Given the description of an element on the screen output the (x, y) to click on. 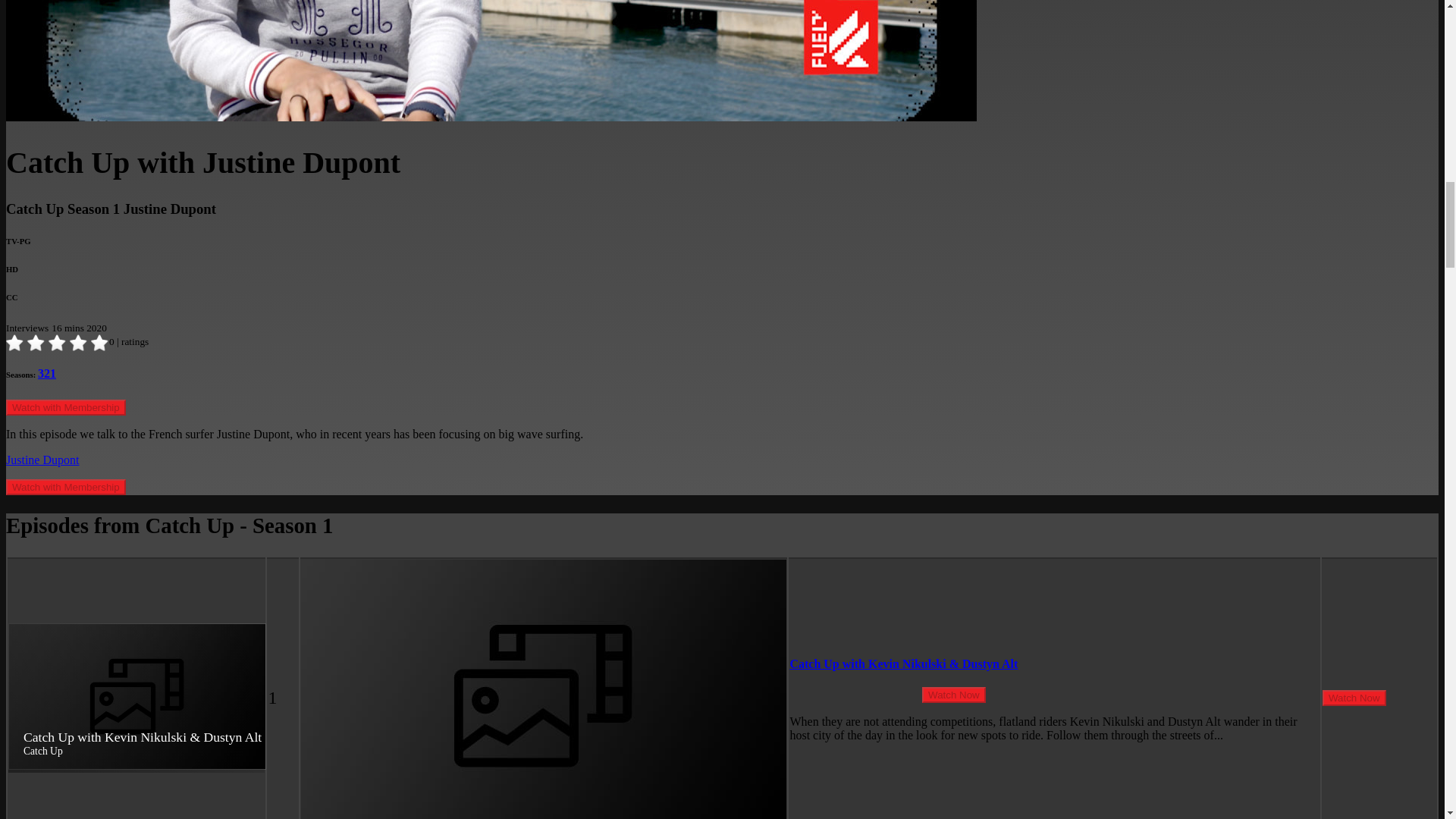
Justine Dupont (41, 459)
loved it (99, 343)
Watch with Membership (65, 487)
didn't like it (36, 343)
Watch with Membership (65, 407)
really like it (78, 343)
liked it (57, 343)
hated it (14, 343)
